Given the description of an element on the screen output the (x, y) to click on. 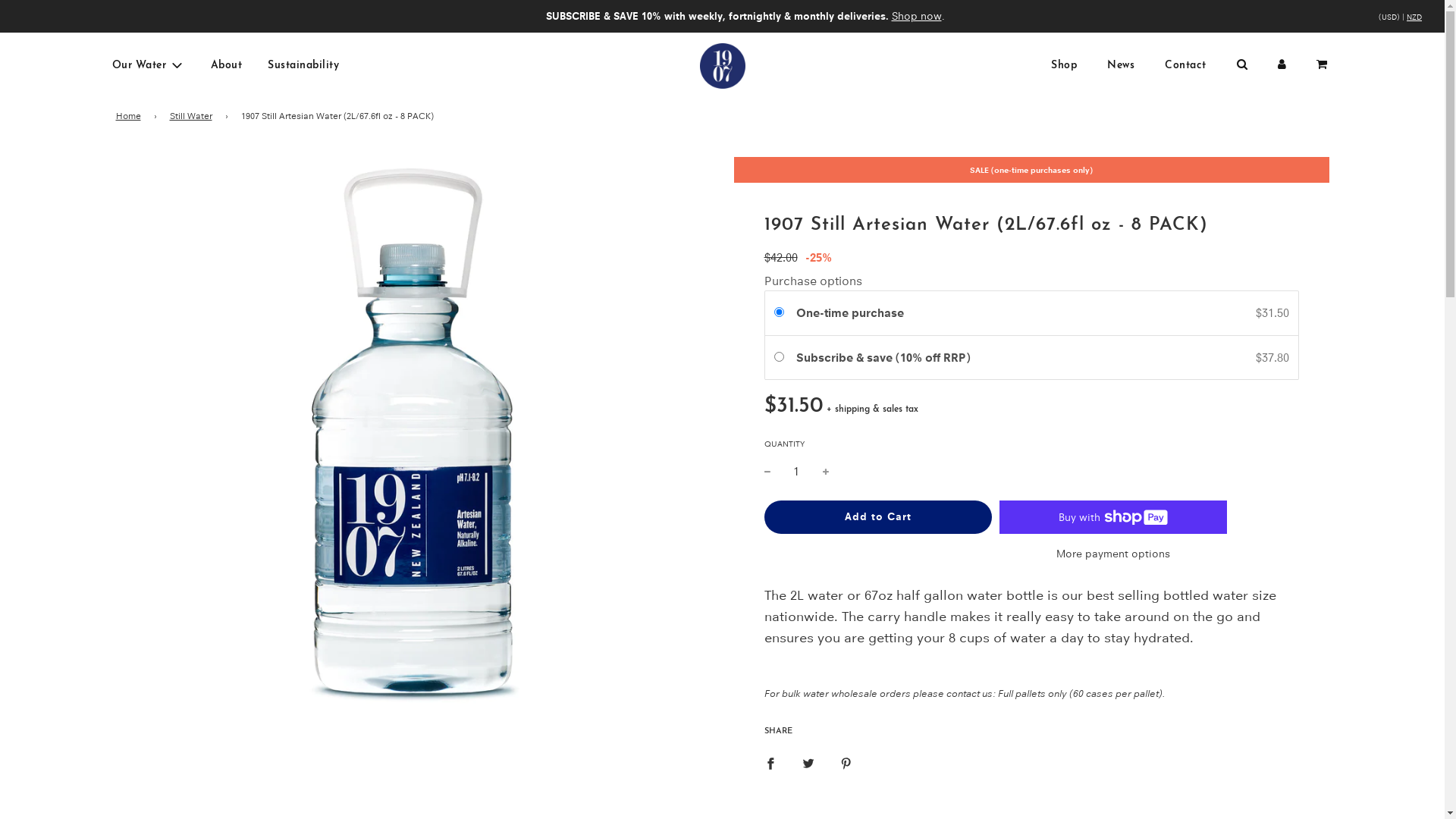
NZD Element type: text (1436, 15)
contact us Element type: text (969, 693)
Sustainability Element type: text (303, 65)
Log in Element type: hover (1281, 63)
Shop Element type: text (1063, 65)
Shop now Element type: text (916, 15)
About Element type: text (225, 65)
More payment options Element type: text (1112, 553)
News Element type: text (1120, 65)
Still Water Element type: text (193, 115)
loading...
Add to Cart Element type: text (877, 516)
Home Element type: text (130, 115)
Our Water Element type: text (147, 65)
Contact Element type: text (1185, 65)
